Given the description of an element on the screen output the (x, y) to click on. 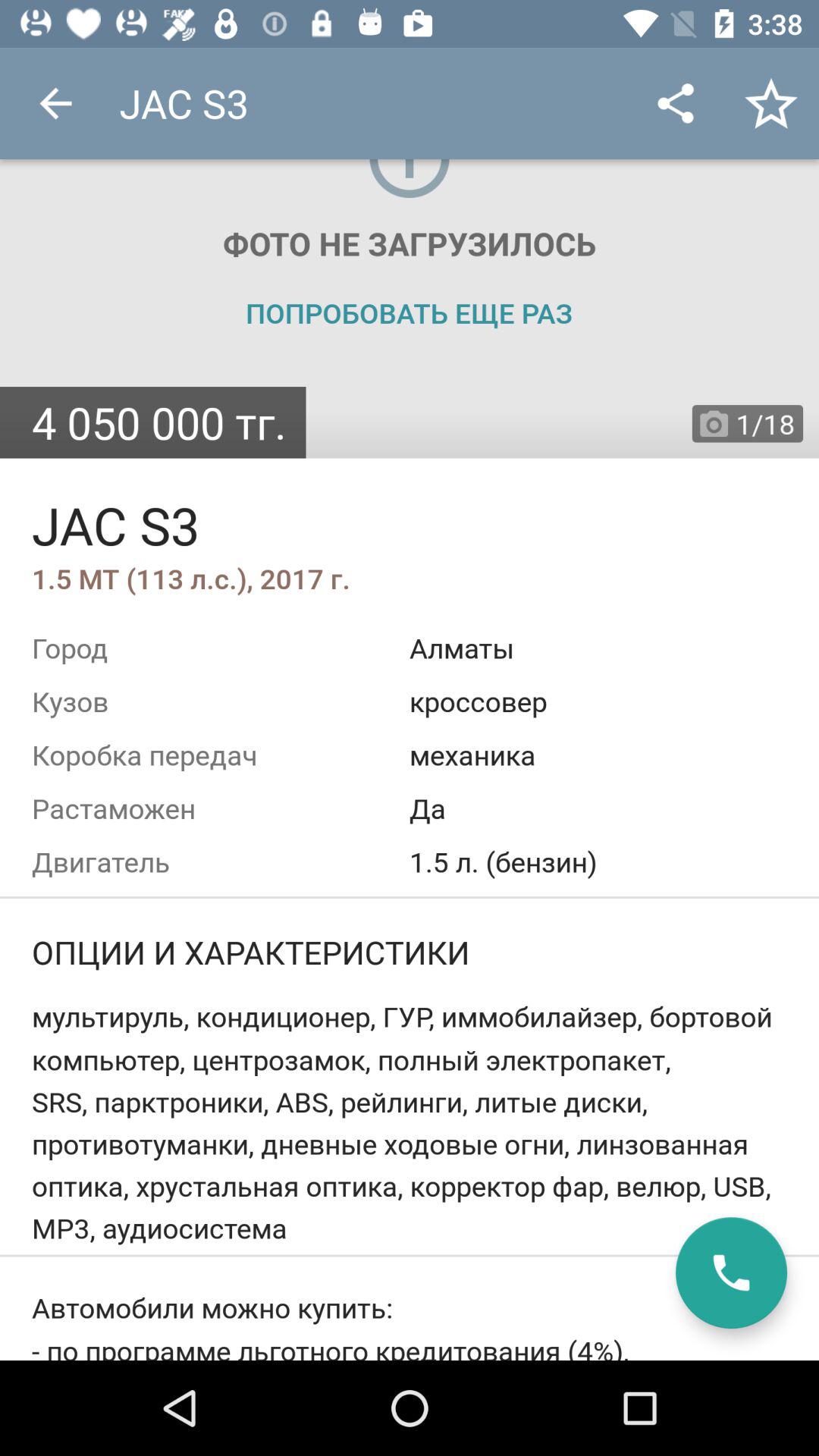
click on icon beside share (771, 103)
select the icon top center of the page (409, 182)
